Given the description of an element on the screen output the (x, y) to click on. 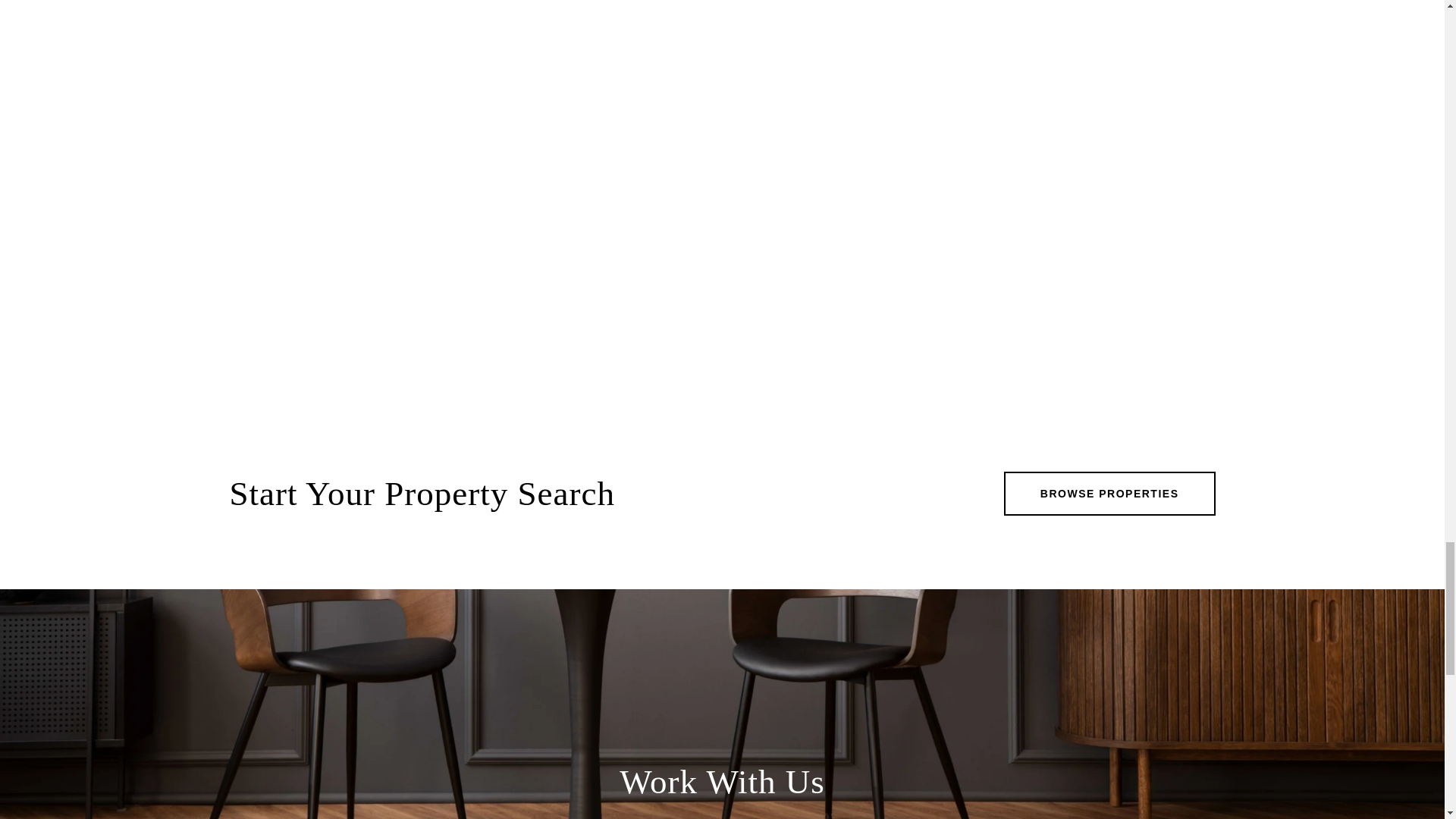
BROWSE PROPERTIES (1109, 493)
